Given the description of an element on the screen output the (x, y) to click on. 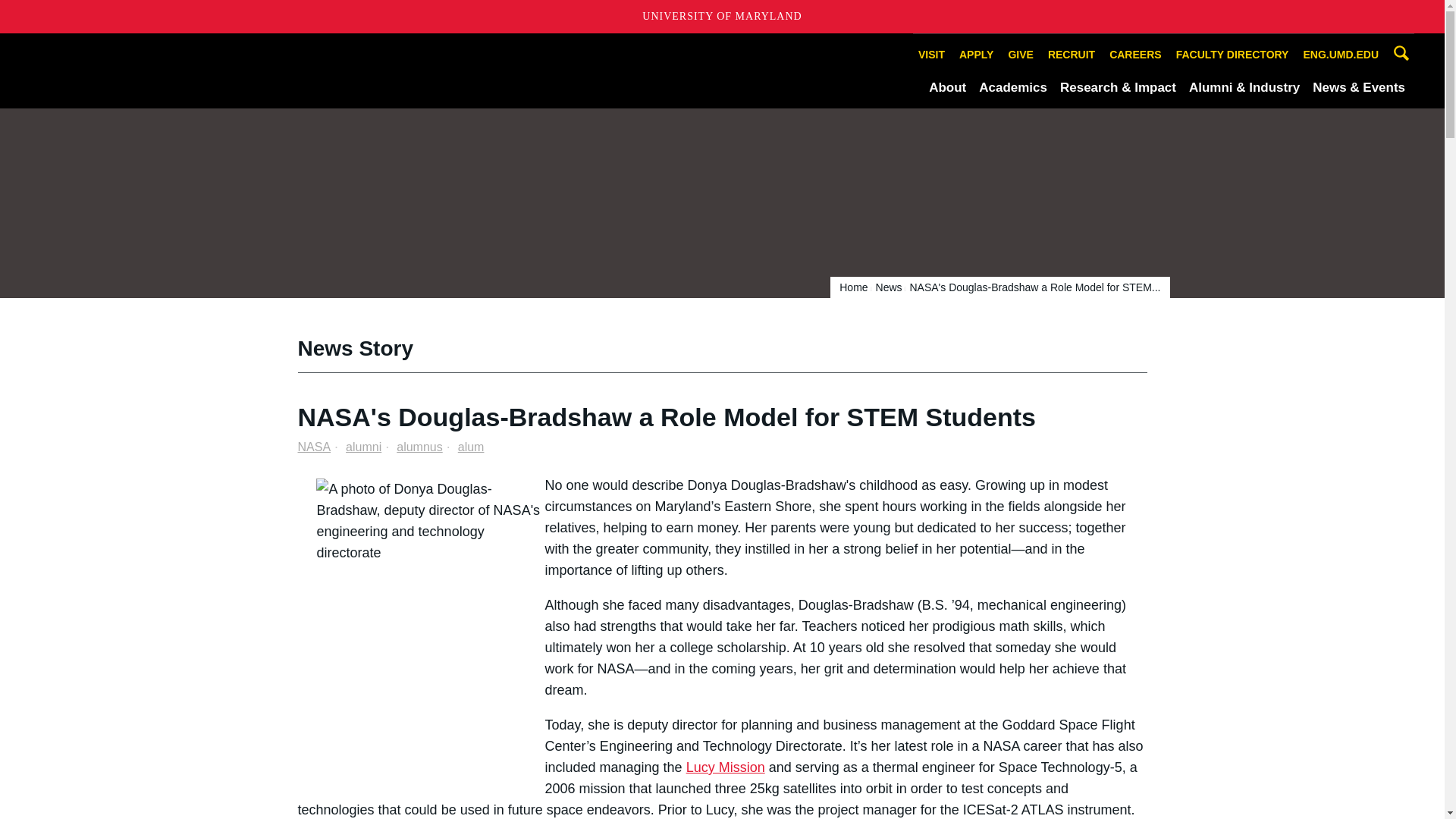
GIVE (1020, 54)
A. James Clark School of Engineering, University of Maryland (188, 69)
RECRUIT (1071, 54)
VISIT (931, 54)
APPLY (975, 54)
UNIVERSITY OF MARYLAND (722, 16)
CAREERS (1134, 54)
ENG.UMD.EDU (1340, 54)
FACULTY DIRECTORY (1232, 54)
